Given the description of an element on the screen output the (x, y) to click on. 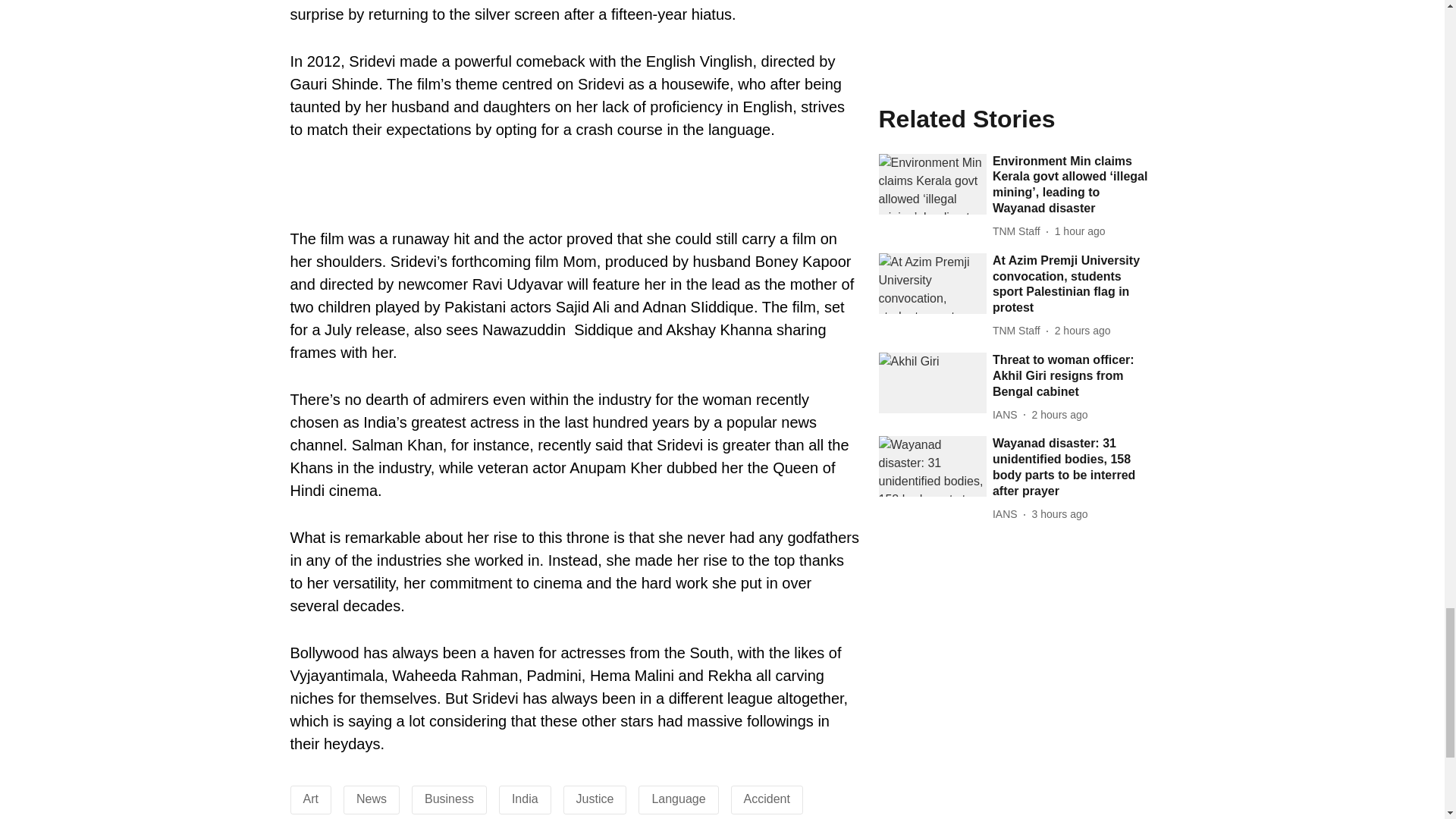
India (525, 798)
News (371, 798)
Justice (595, 798)
Art (310, 798)
Business (449, 798)
Accident (767, 798)
Language (677, 798)
